Given the description of an element on the screen output the (x, y) to click on. 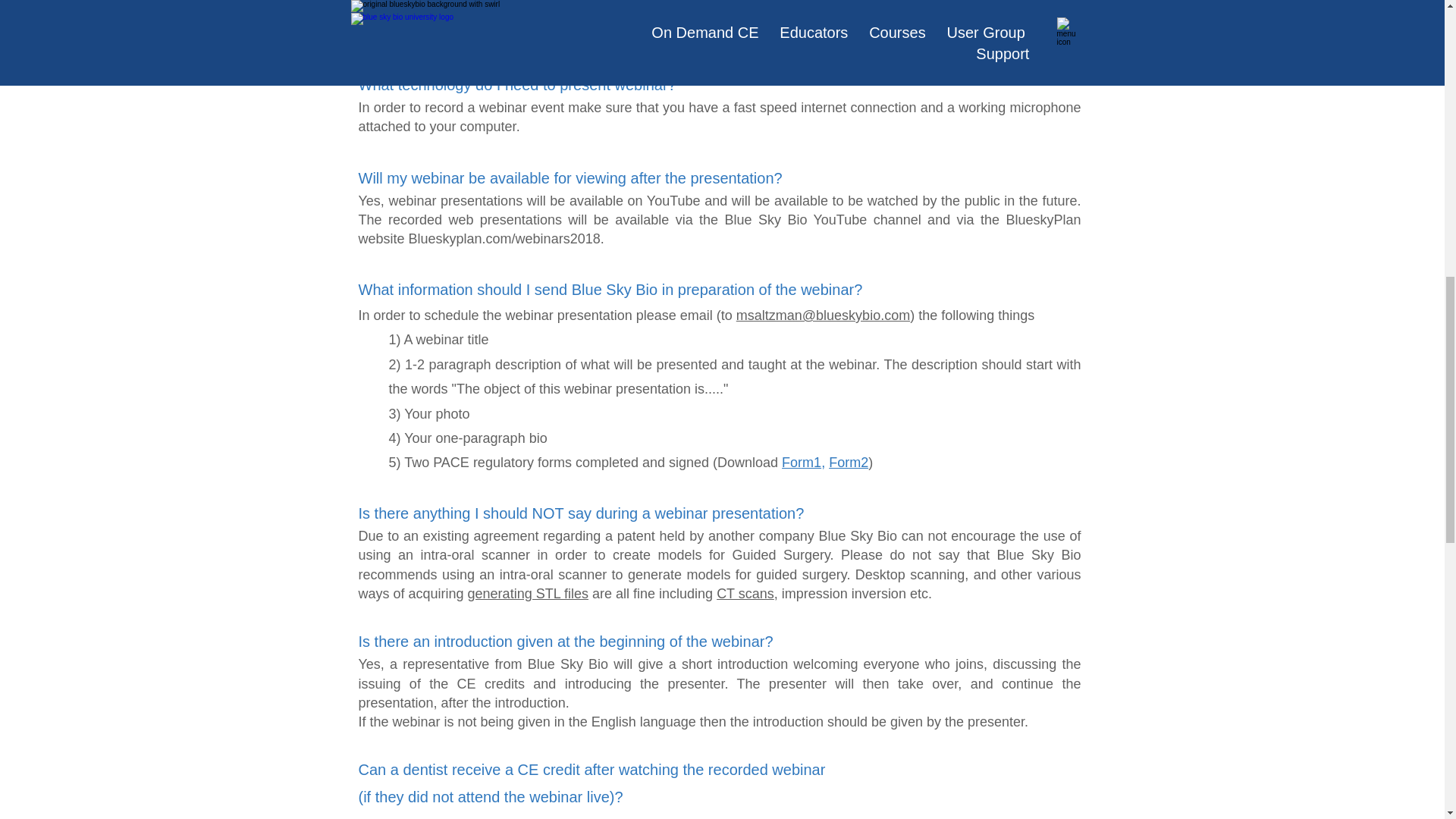
CT scans (745, 593)
Form2 (847, 462)
Form1 (801, 462)
generating STL files (527, 593)
